Given the description of an element on the screen output the (x, y) to click on. 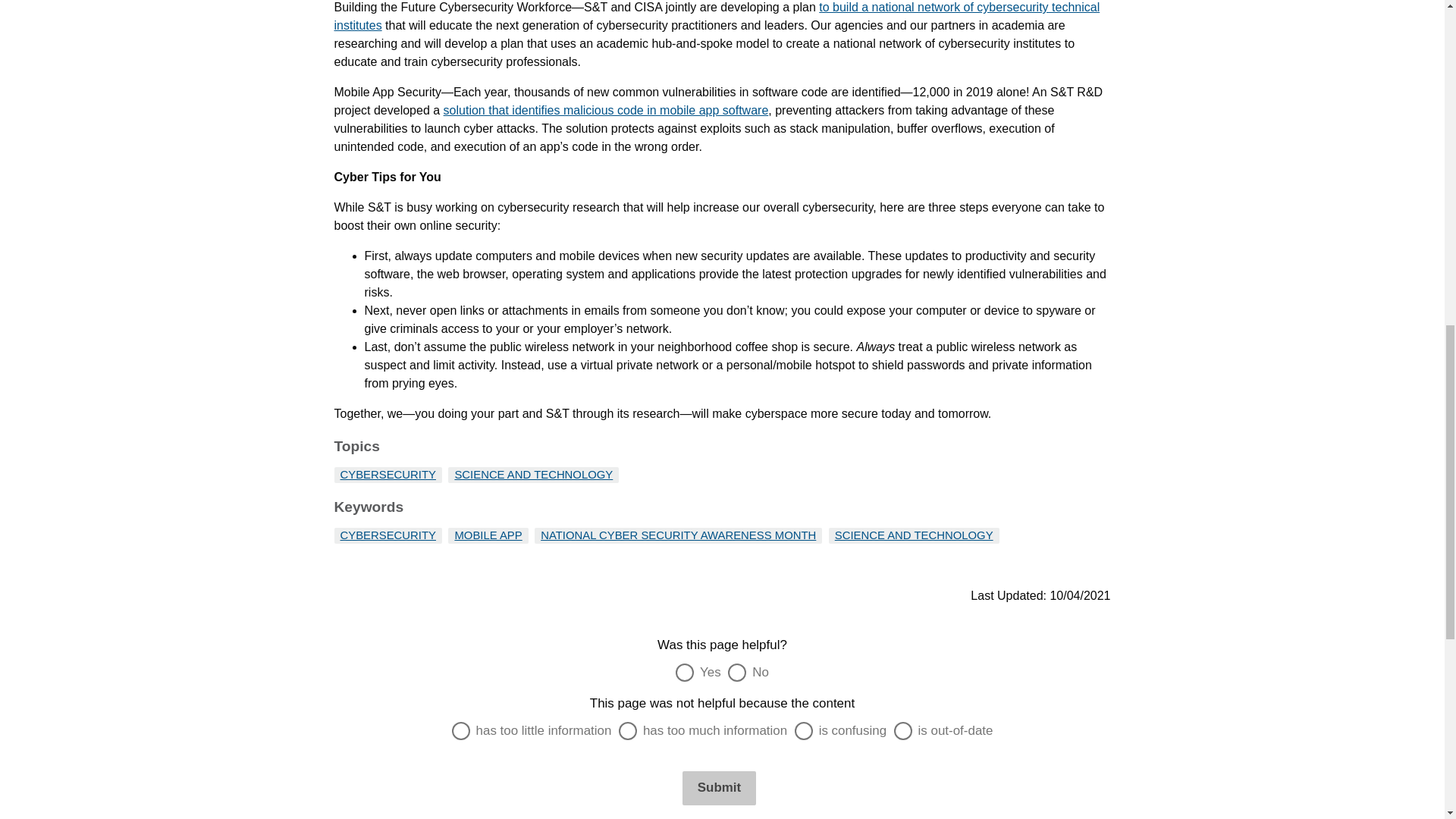
Submit (718, 787)
MOBILE APP (487, 535)
CYBERSECURITY (387, 535)
NATIONAL CYBER SECURITY AWARENESS MONTH (677, 535)
Submit (718, 787)
SCIENCE AND TECHNOLOGY (533, 474)
Submit (718, 787)
SCIENCE AND TECHNOLOGY (913, 535)
